Given the description of an element on the screen output the (x, y) to click on. 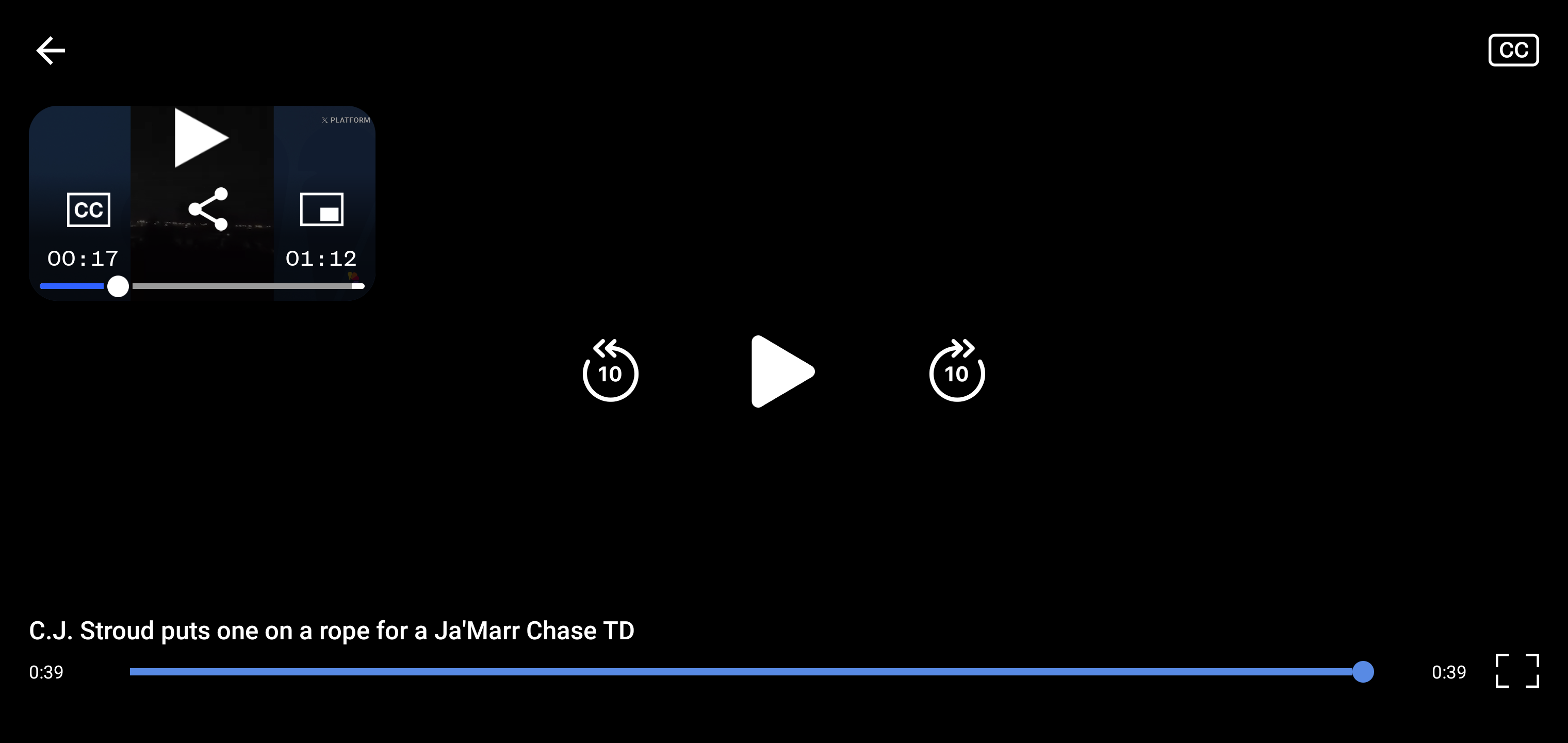
Navigate up (50, 50)
Closed captions  (1528, 50)
Rewind 10 seconds  (610, 371)
Fast forward 10 seconds  (957, 371)
Play (783, 371)
Fullscreen  (1524, 670)
39939.0 (751, 671)
